Given the description of an element on the screen output the (x, y) to click on. 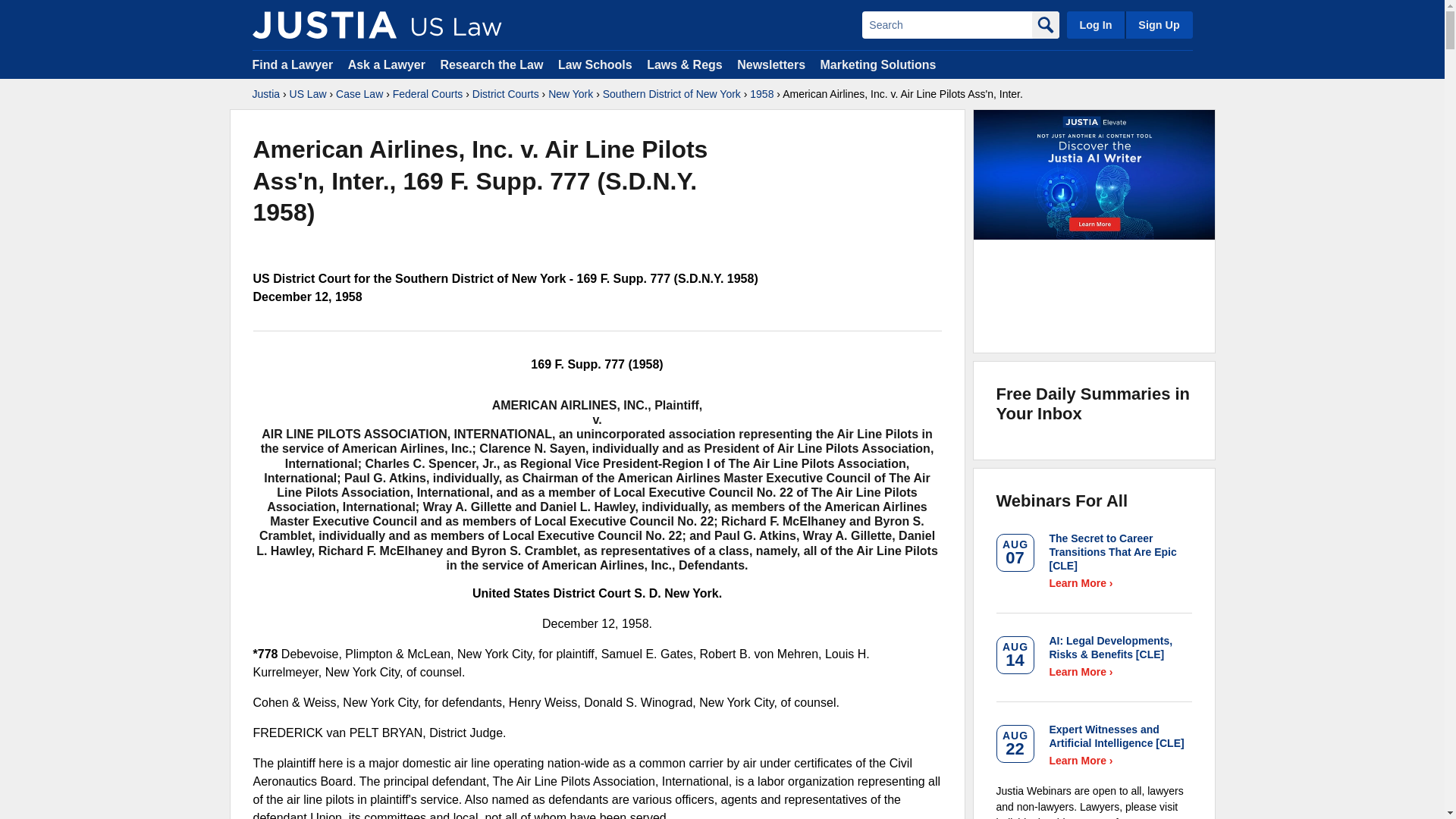
Law Schools (594, 64)
District Courts (504, 93)
New York (570, 93)
Case Law (359, 93)
Search (945, 24)
Ask a Lawyer (388, 64)
Research the Law (491, 64)
Marketing Solutions (877, 64)
Sign Up (1158, 24)
Federal Courts (428, 93)
